Given the description of an element on the screen output the (x, y) to click on. 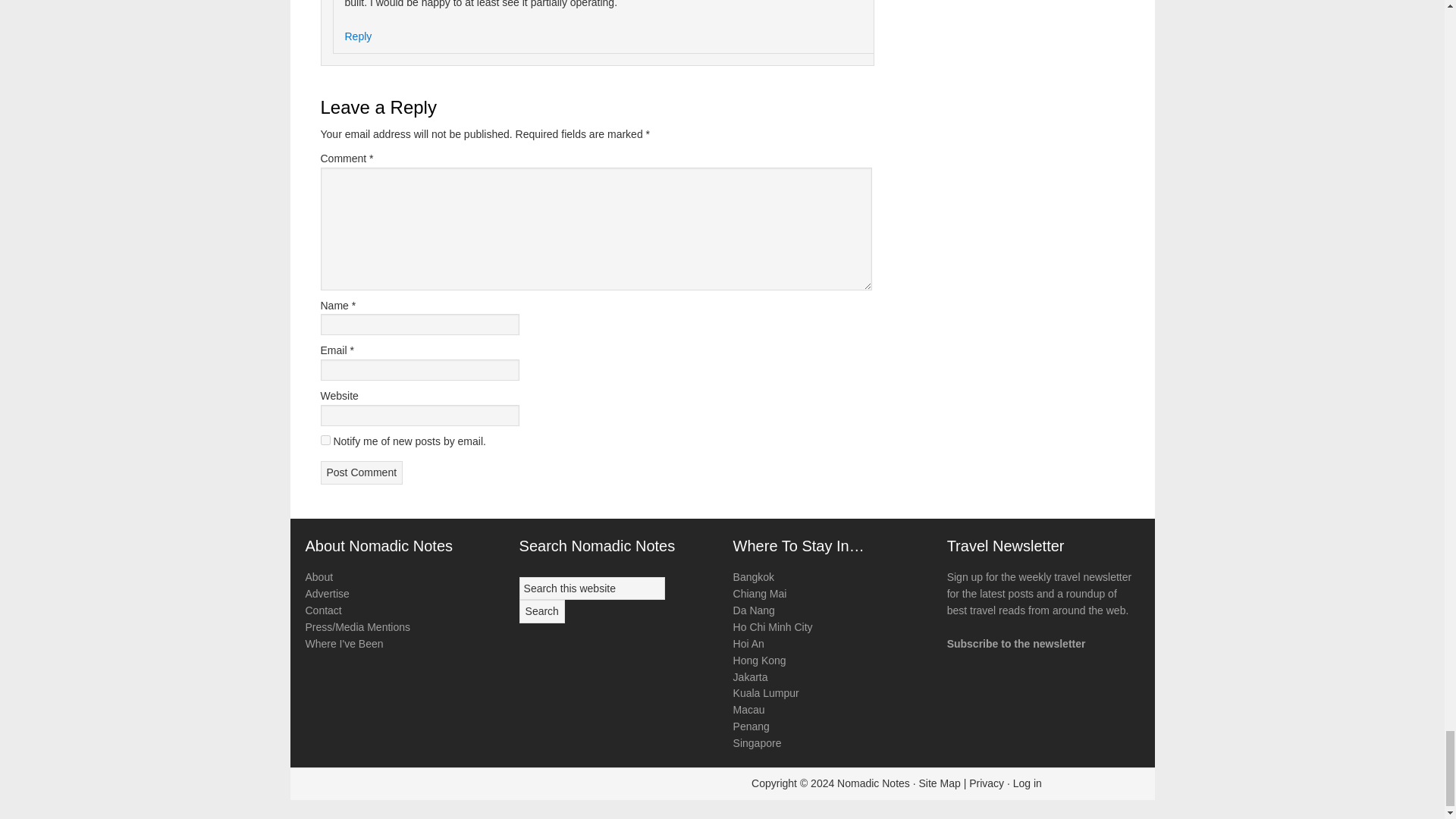
subscribe (325, 439)
Search (541, 611)
Post Comment (361, 472)
Search (541, 611)
